Given the description of an element on the screen output the (x, y) to click on. 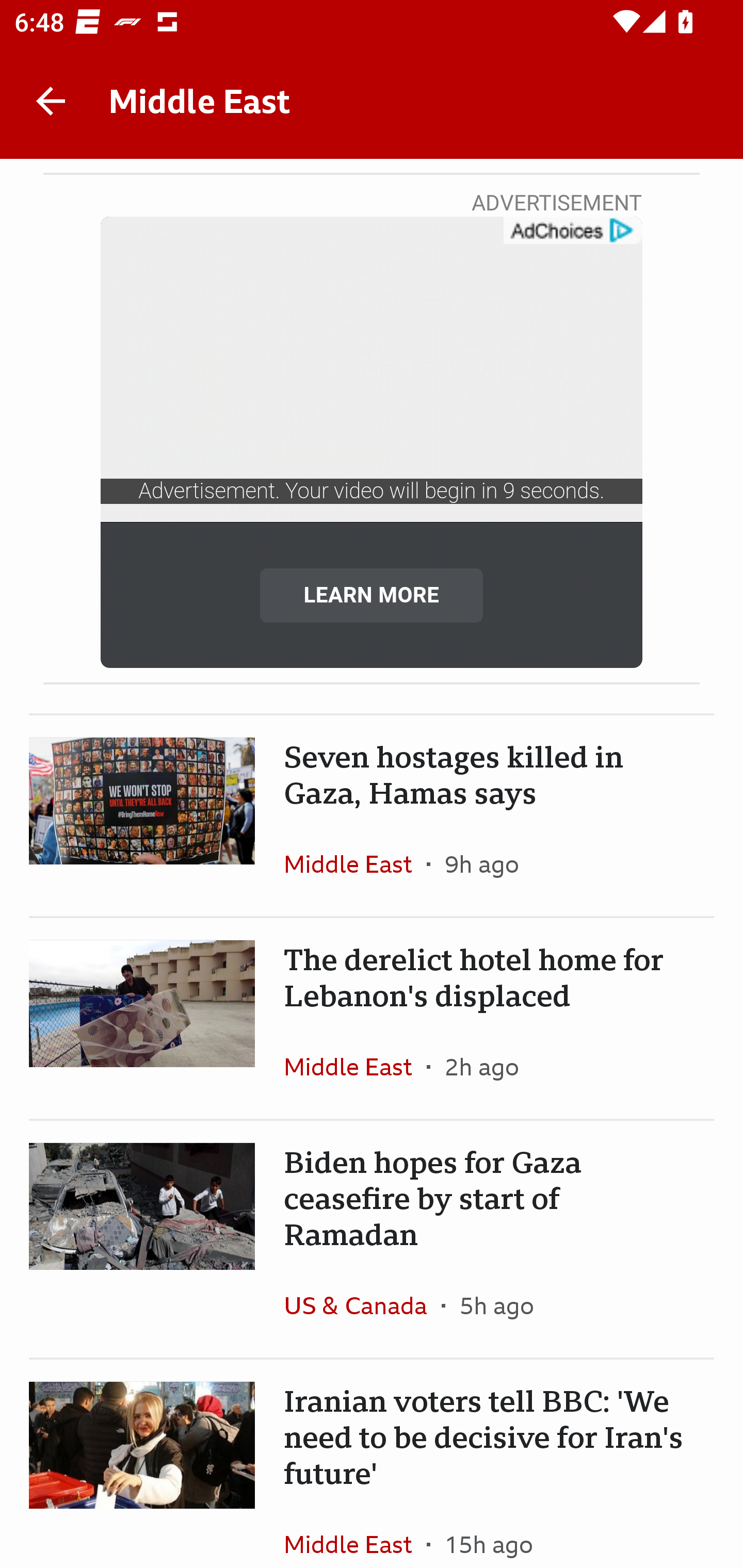
Back (50, 101)
get?name=admarker-full-tl (571, 231)
LEARN MORE (371, 594)
Middle East In the section Middle East (354, 863)
Middle East In the section Middle East (354, 1065)
US & Canada In the section US & Canada (362, 1304)
Middle East In the section Middle East (354, 1530)
